Given the description of an element on the screen output the (x, y) to click on. 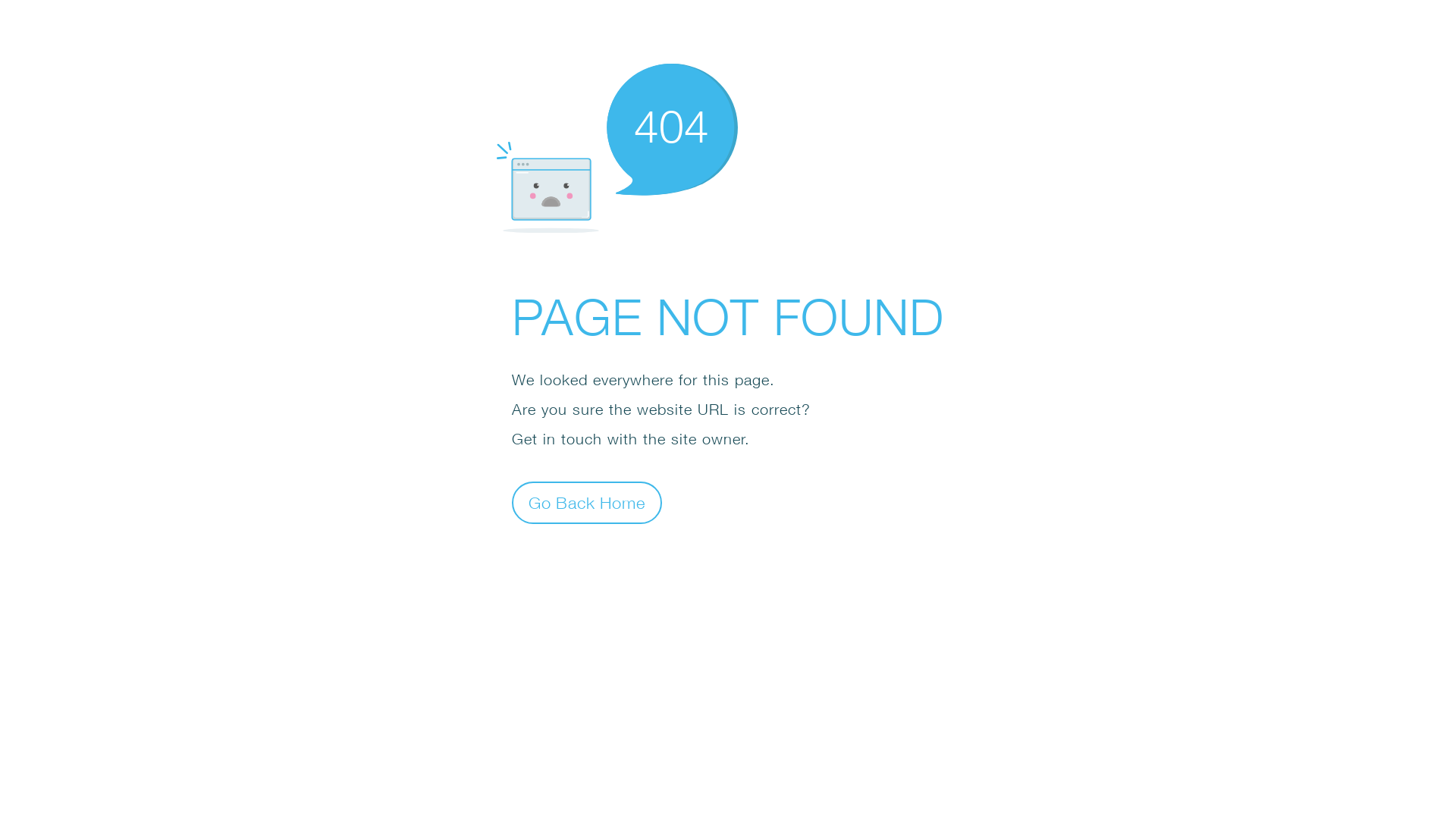
Go Back Home Element type: text (586, 502)
